Given the description of an element on the screen output the (x, y) to click on. 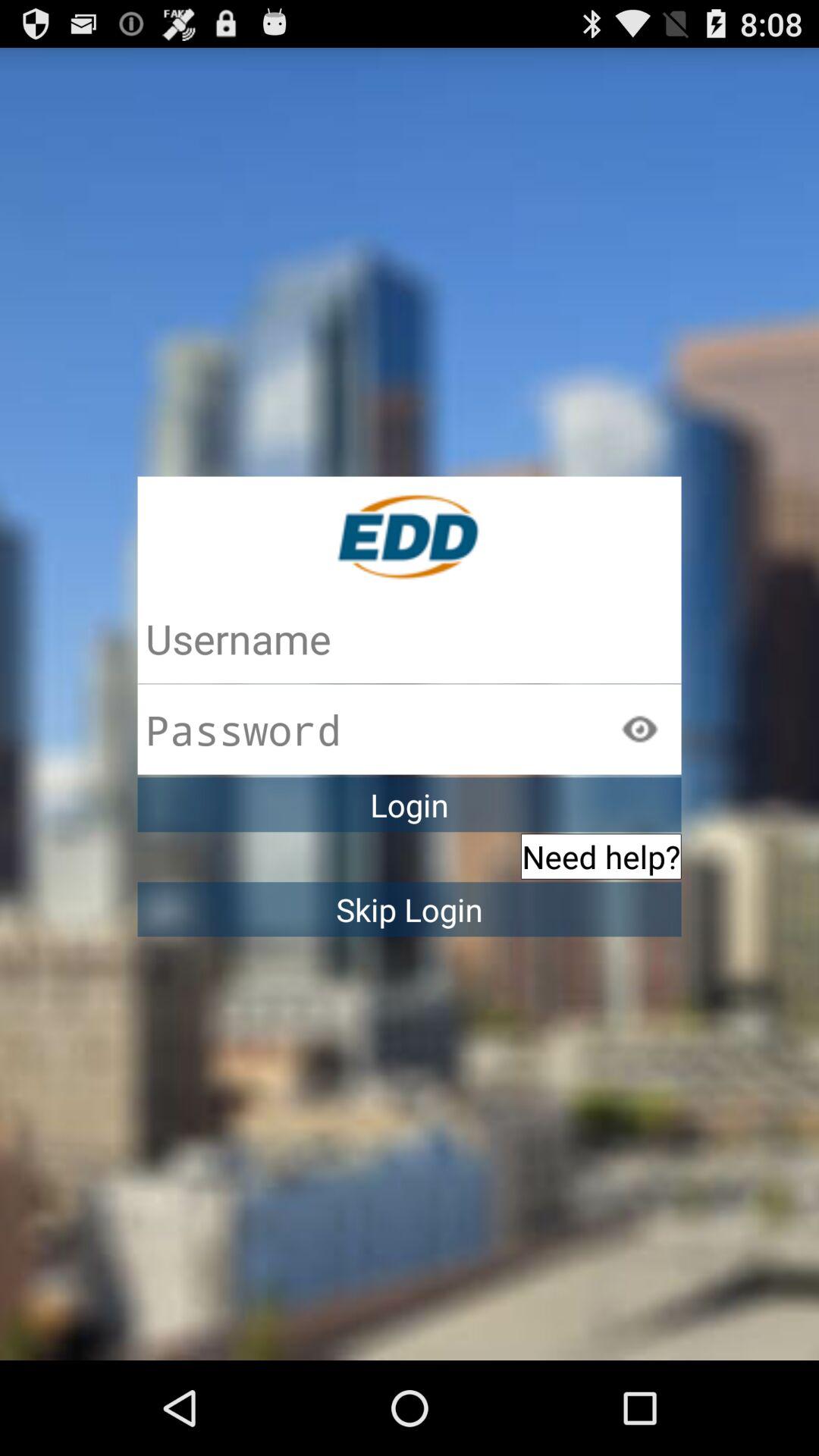
tap icon above the skip login (600, 856)
